Given the description of an element on the screen output the (x, y) to click on. 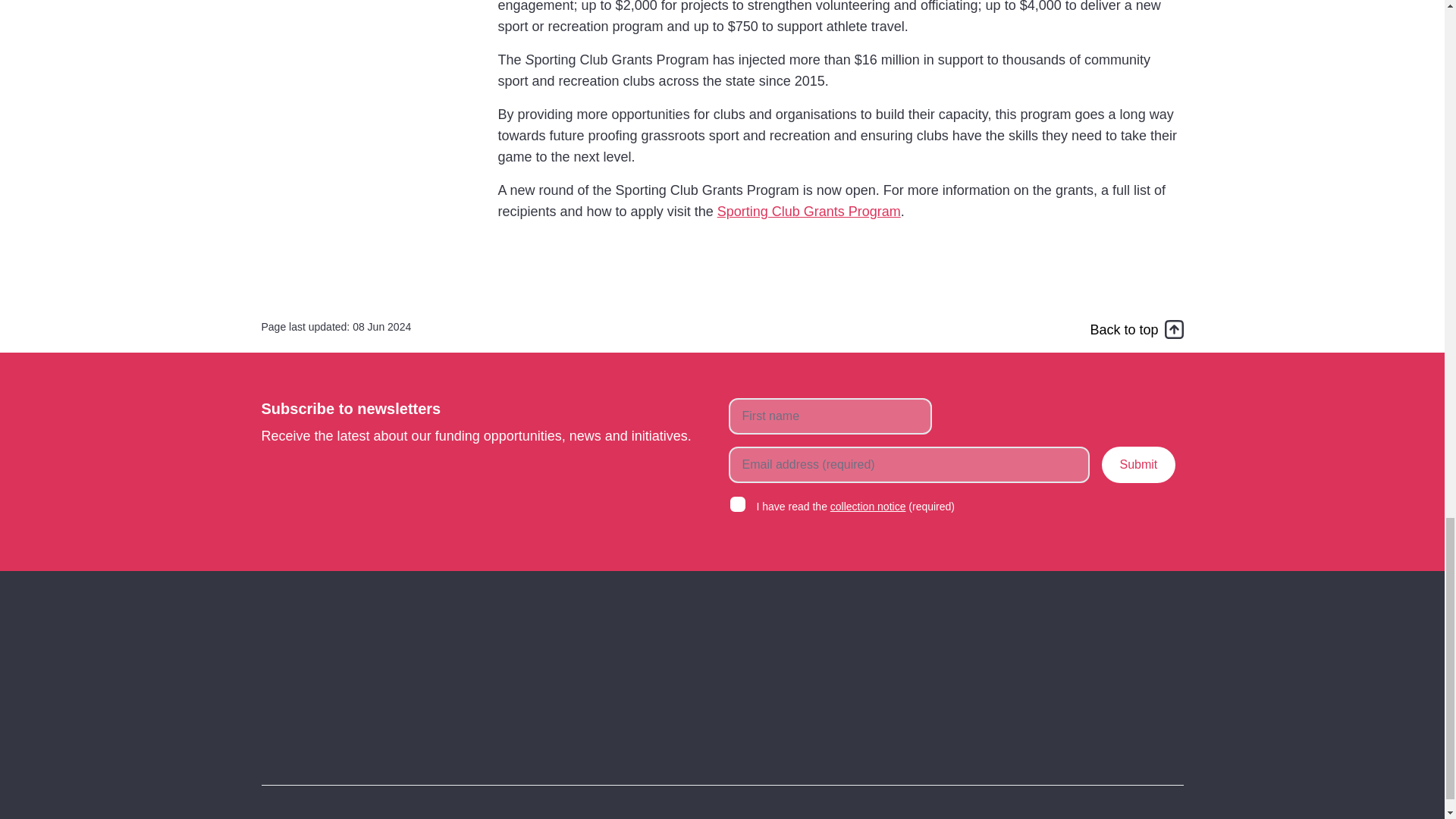
on (736, 503)
